Given the description of an element on the screen output the (x, y) to click on. 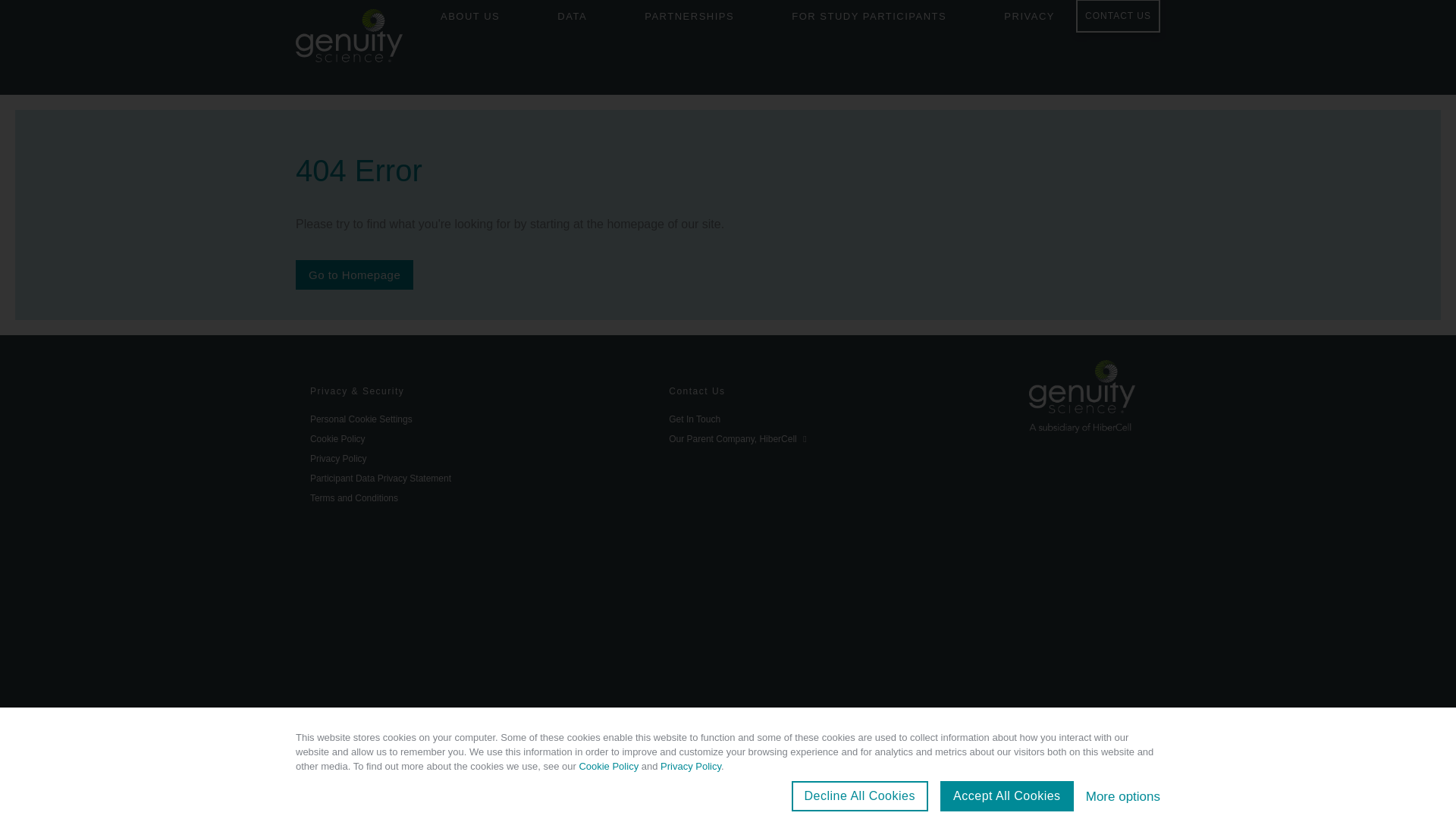
More options (1123, 796)
Genuity Science (349, 38)
Accept All Cookies (1007, 796)
Go to Homepage (354, 274)
FOR STUDY PARTICIPANTS (868, 19)
DATA (571, 19)
CONTACT US (1117, 16)
PARTNERSHIPS (688, 19)
Personal Cookie Settings (475, 419)
ABOUT US (470, 19)
Get In Touch (833, 419)
Privacy Policy (690, 766)
Participant Data Privacy Statement (475, 478)
Cookie Policy (475, 438)
PRIVACY (1029, 19)
